Given the description of an element on the screen output the (x, y) to click on. 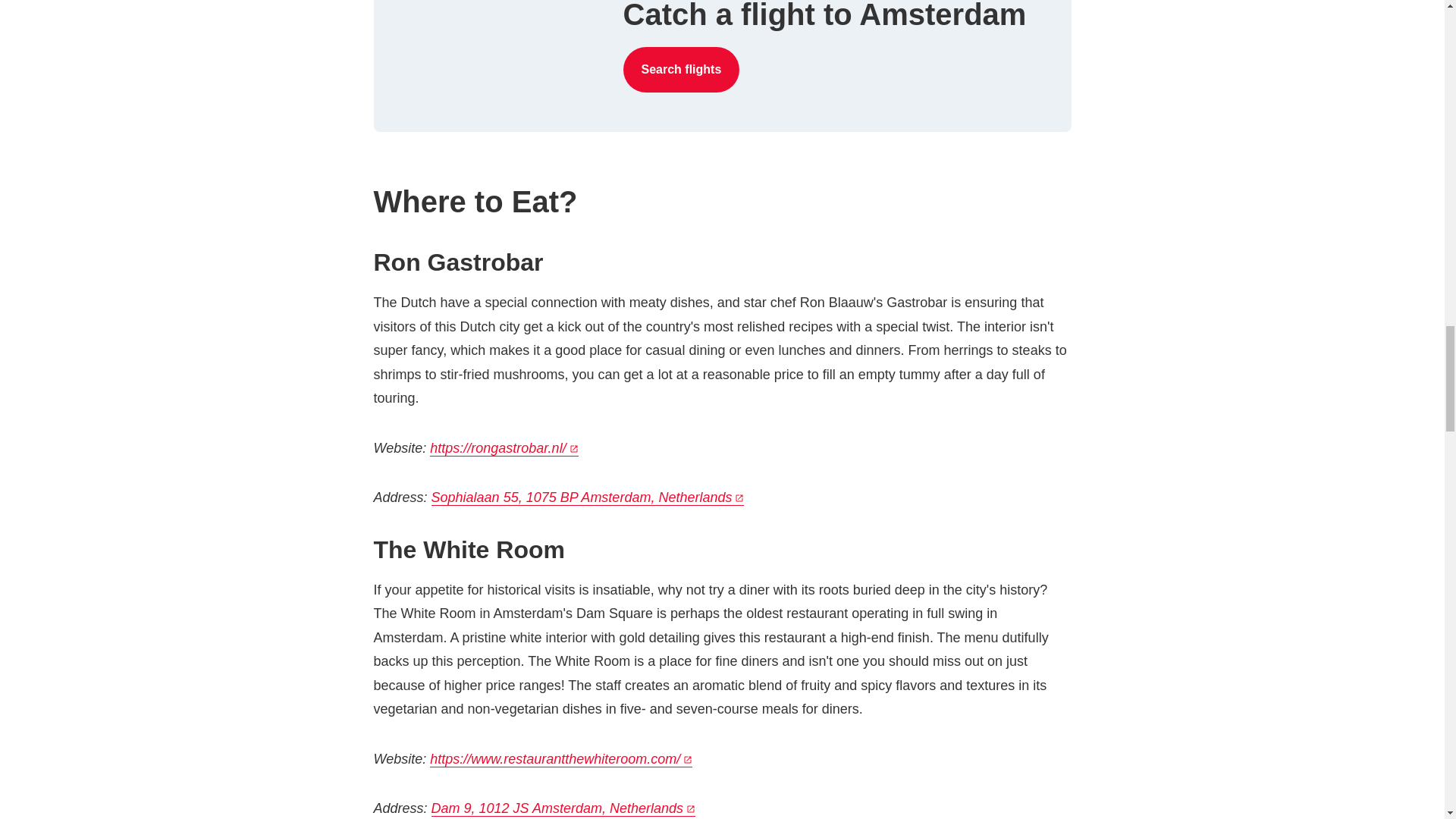
Search flights (681, 69)
